Given the description of an element on the screen output the (x, y) to click on. 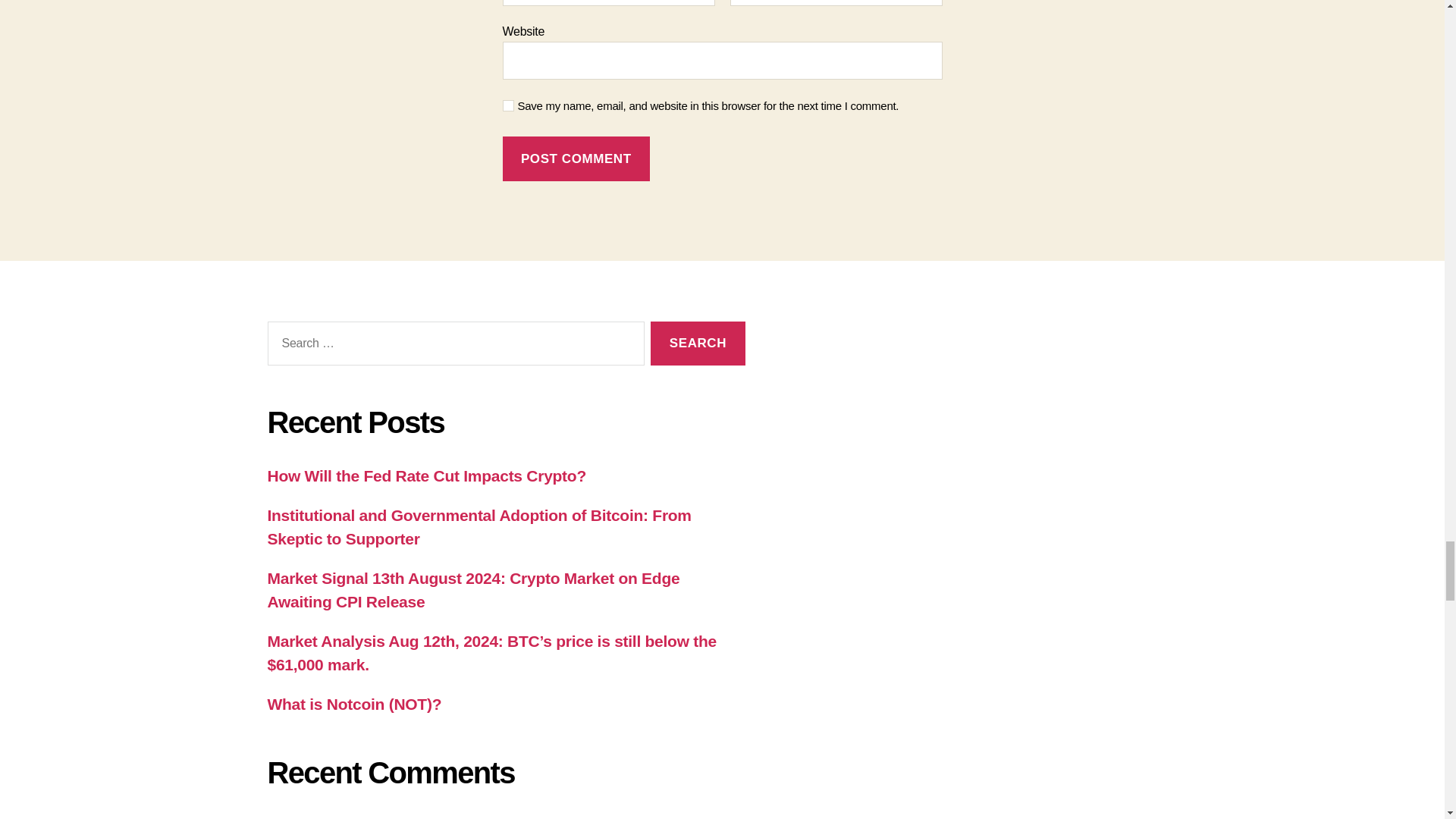
How Will the Fed Rate Cut Impacts Crypto? (425, 475)
Post Comment (575, 158)
Search (697, 343)
yes (507, 105)
Search (697, 343)
Search (697, 343)
Post Comment (575, 158)
